Given the description of an element on the screen output the (x, y) to click on. 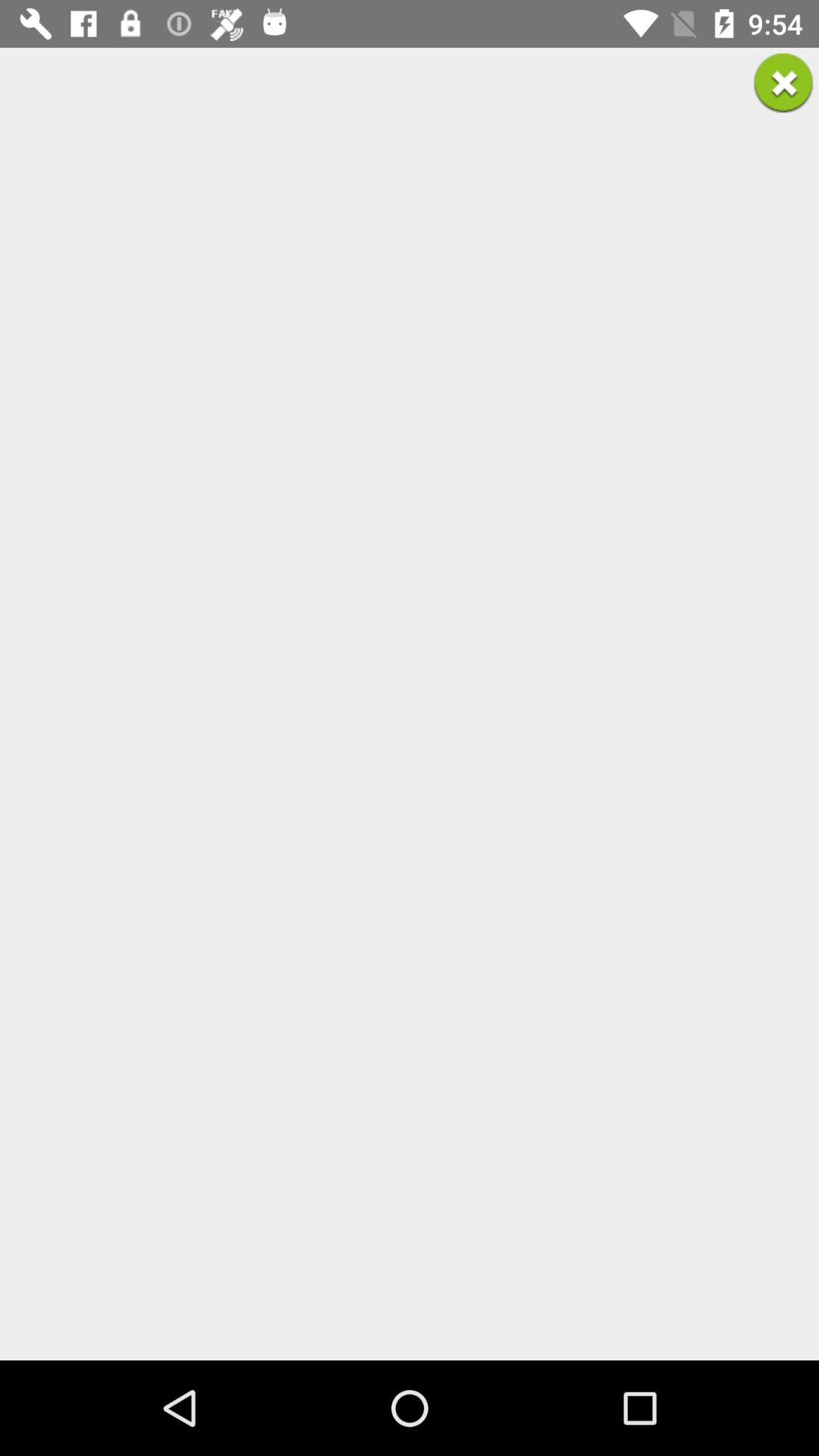
launch the item at the top right corner (783, 83)
